Given the description of an element on the screen output the (x, y) to click on. 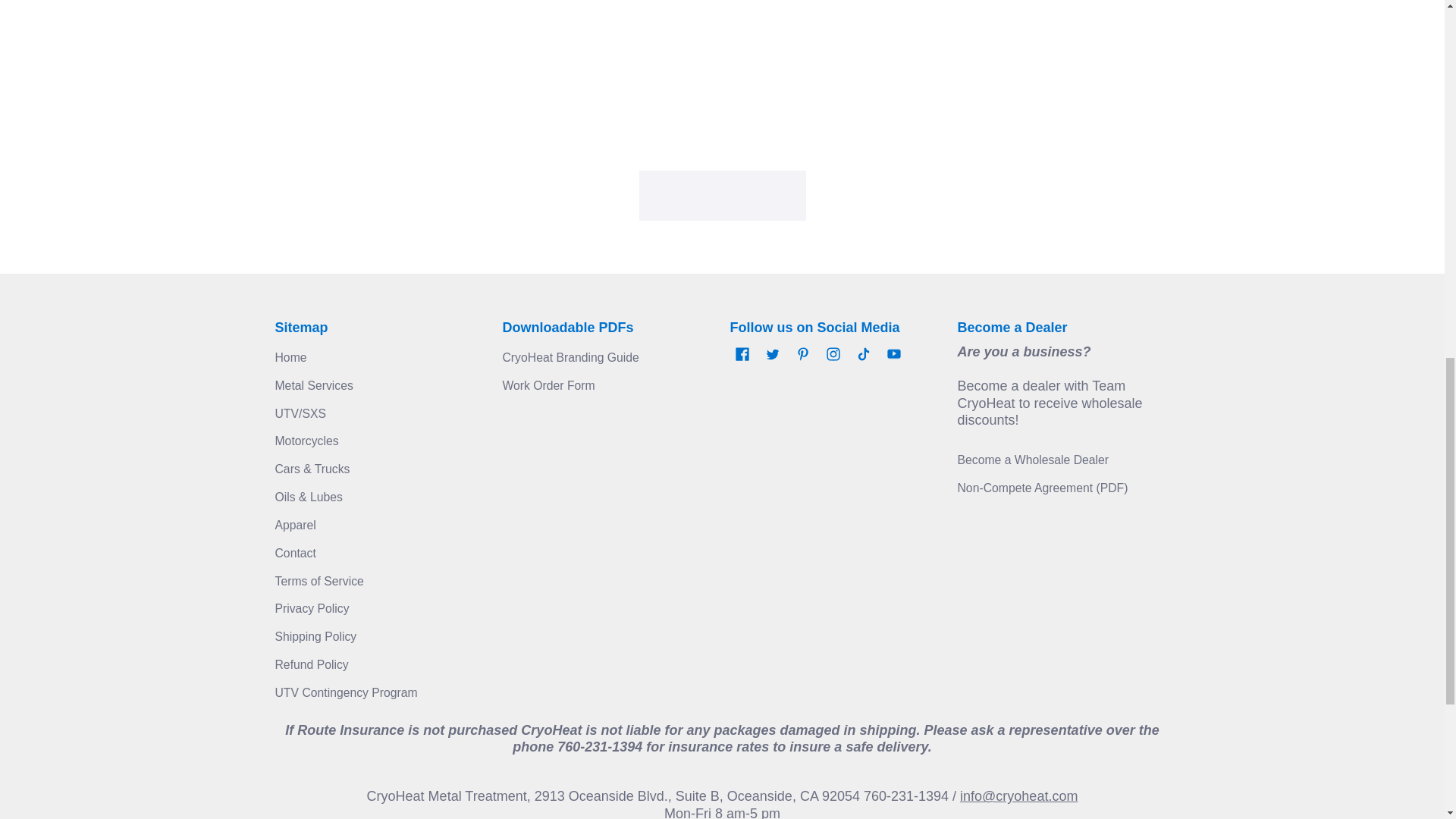
Contact (295, 553)
Apparel (295, 524)
Home (290, 357)
Metal Services (313, 385)
Motorcycles (306, 440)
Privacy Policy (312, 608)
Terms of Service (318, 581)
Shipping Policy (315, 635)
